Given the description of an element on the screen output the (x, y) to click on. 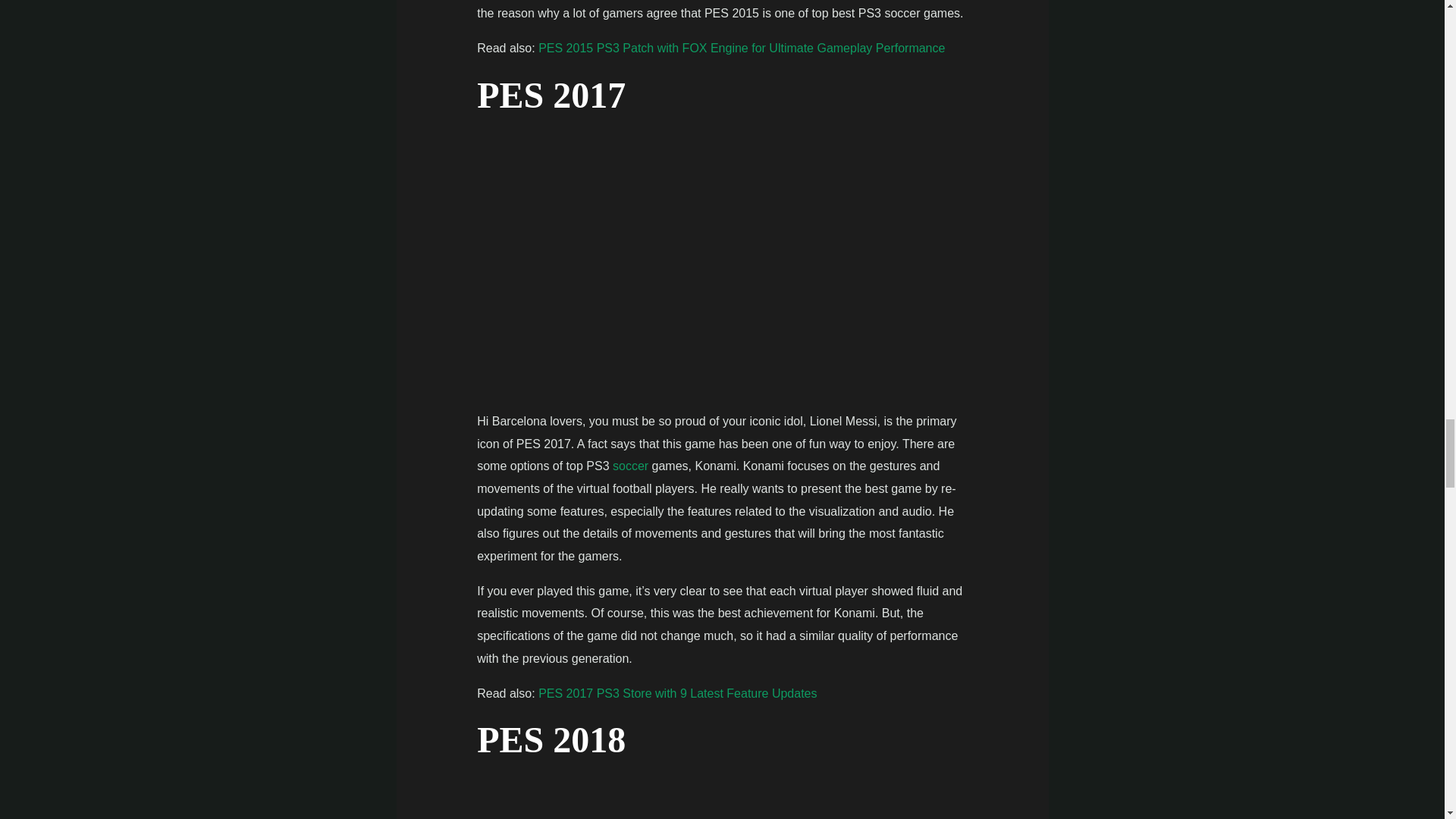
PES 2017 PS3 Store with 9 Latest Feature Updates (677, 693)
soccer (629, 465)
